Given the description of an element on the screen output the (x, y) to click on. 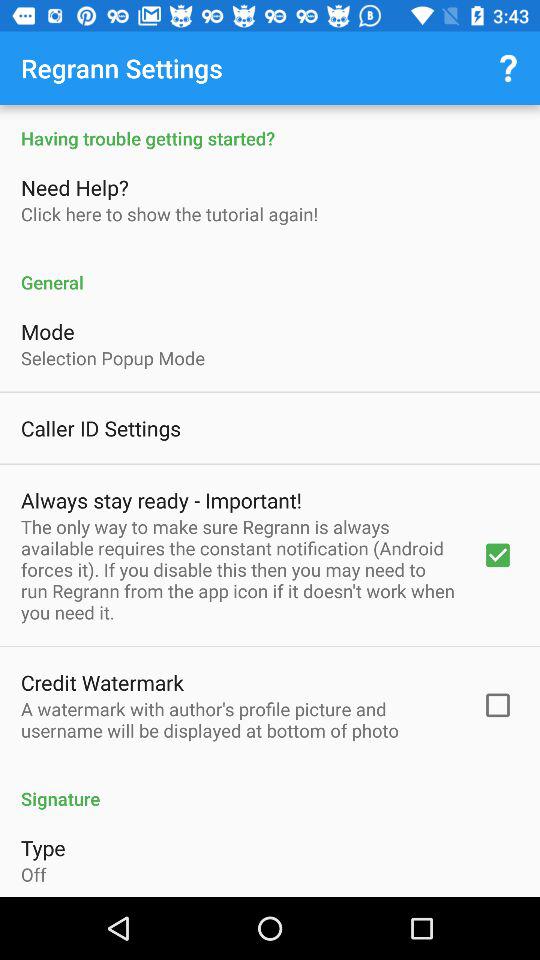
choose the credit watermark (102, 682)
